Given the description of an element on the screen output the (x, y) to click on. 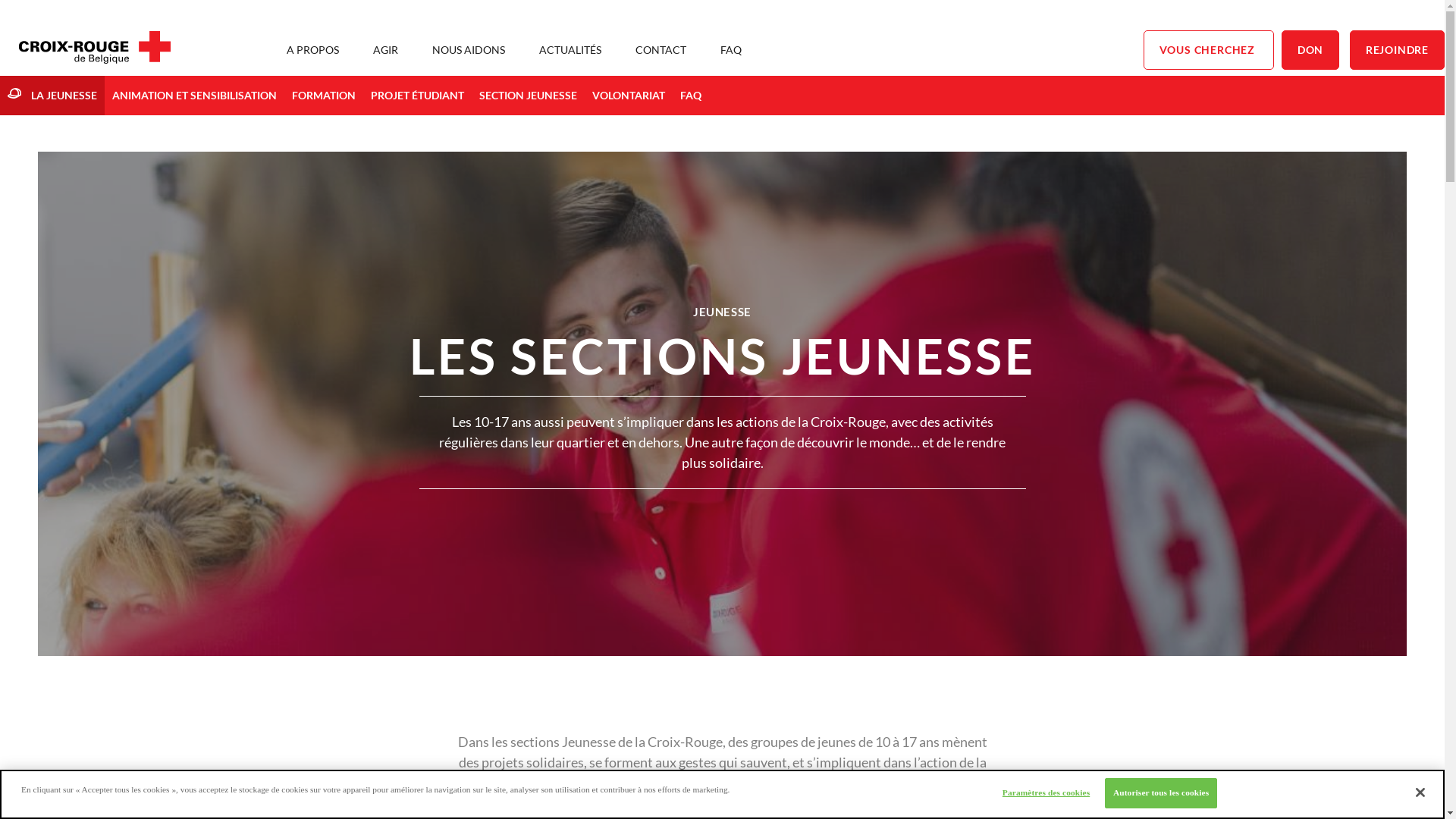
Autoriser tous les cookies Element type: text (1160, 793)
SECTION JEUNESSE Element type: text (527, 95)
FORMATION Element type: text (323, 95)
ANIMATION ET SENSIBILISATION Element type: text (194, 95)
CONTACT Element type: text (660, 49)
VOLONTARIAT Element type: text (628, 95)
DON Element type: text (1310, 49)
FAQ Element type: text (690, 95)
A PROPOS Element type: text (312, 49)
FAQ Element type: text (730, 49)
NOUS AIDONS Element type: text (468, 49)
REJOINDRE Element type: text (1396, 49)
LA JEUNESSE Element type: text (52, 95)
VOUS CHERCHEZ Element type: text (1208, 49)
AGIR Element type: text (385, 49)
